Given the description of an element on the screen output the (x, y) to click on. 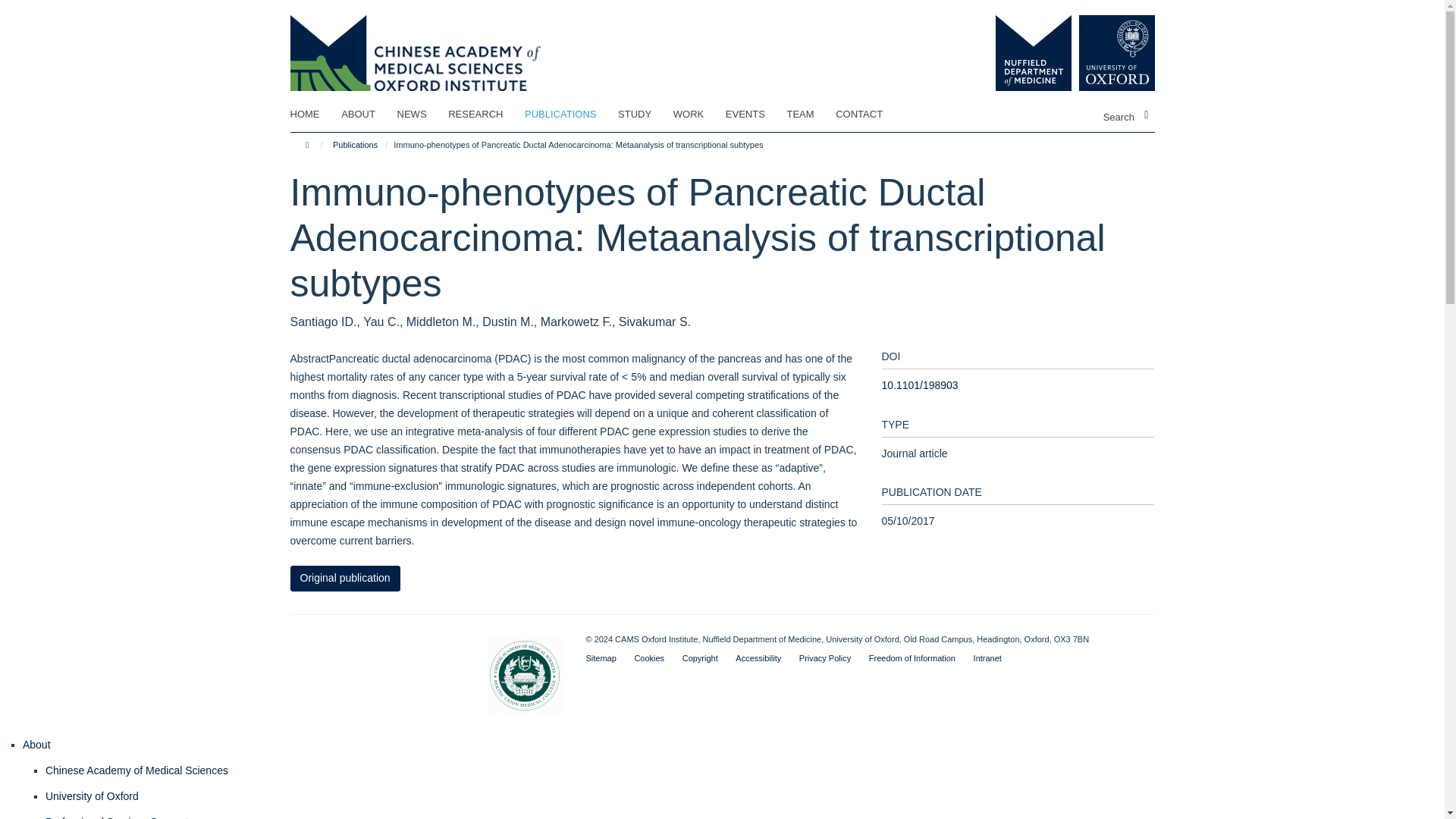
STUDY (643, 114)
NDM University of Oxford (1063, 52)
Original publication (343, 578)
ABOUT (367, 114)
WORK (697, 114)
PUBLICATIONS (569, 114)
RESEARCH (484, 114)
EVENTS (754, 114)
TEAM (809, 114)
HOME (313, 114)
CONTACT (868, 114)
NEWS (421, 114)
Publications (355, 144)
CAMS Oxford Institute (414, 43)
